Given the description of an element on the screen output the (x, y) to click on. 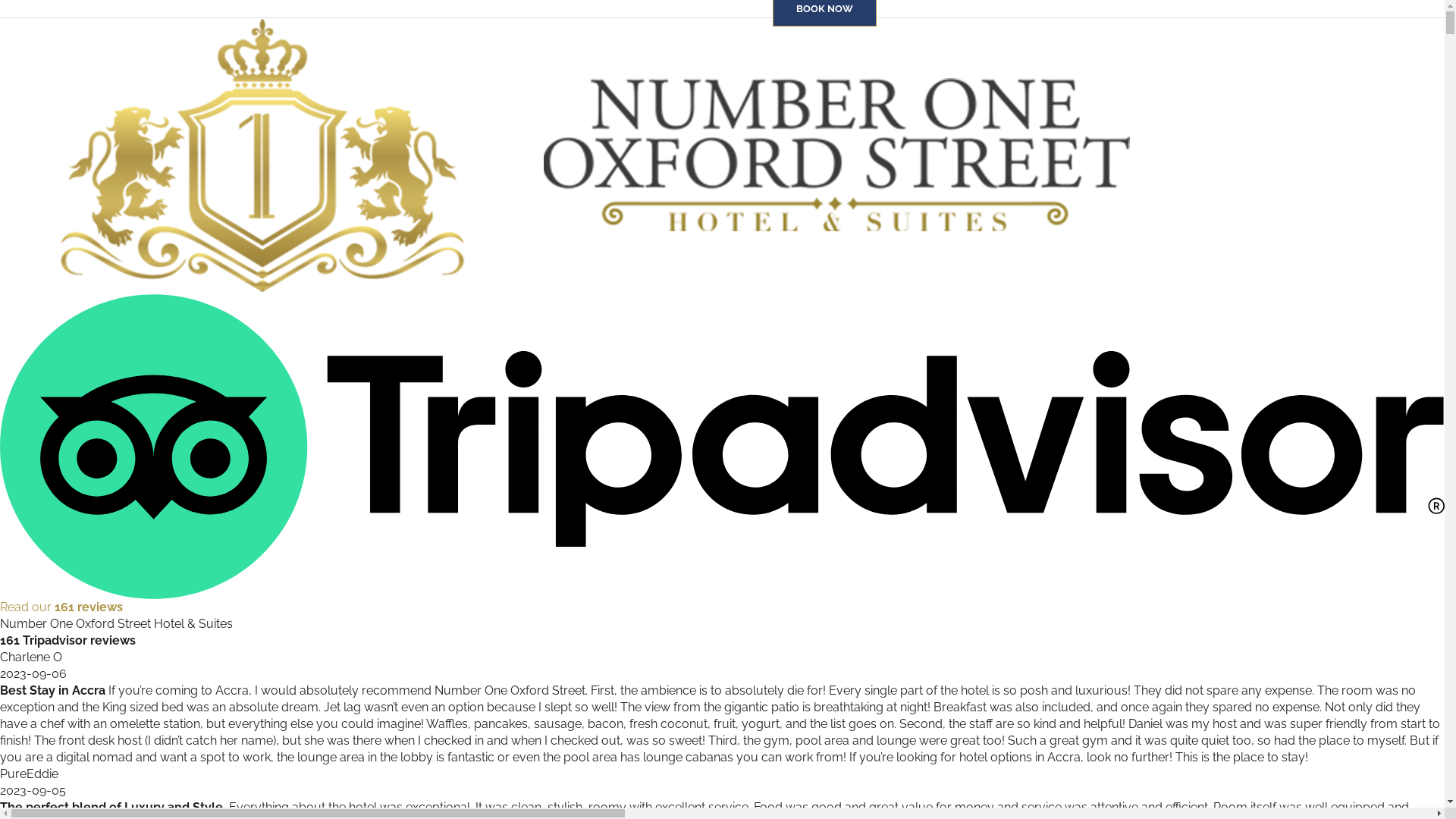
Read our 161 reviews Element type: text (722, 454)
